Given the description of an element on the screen output the (x, y) to click on. 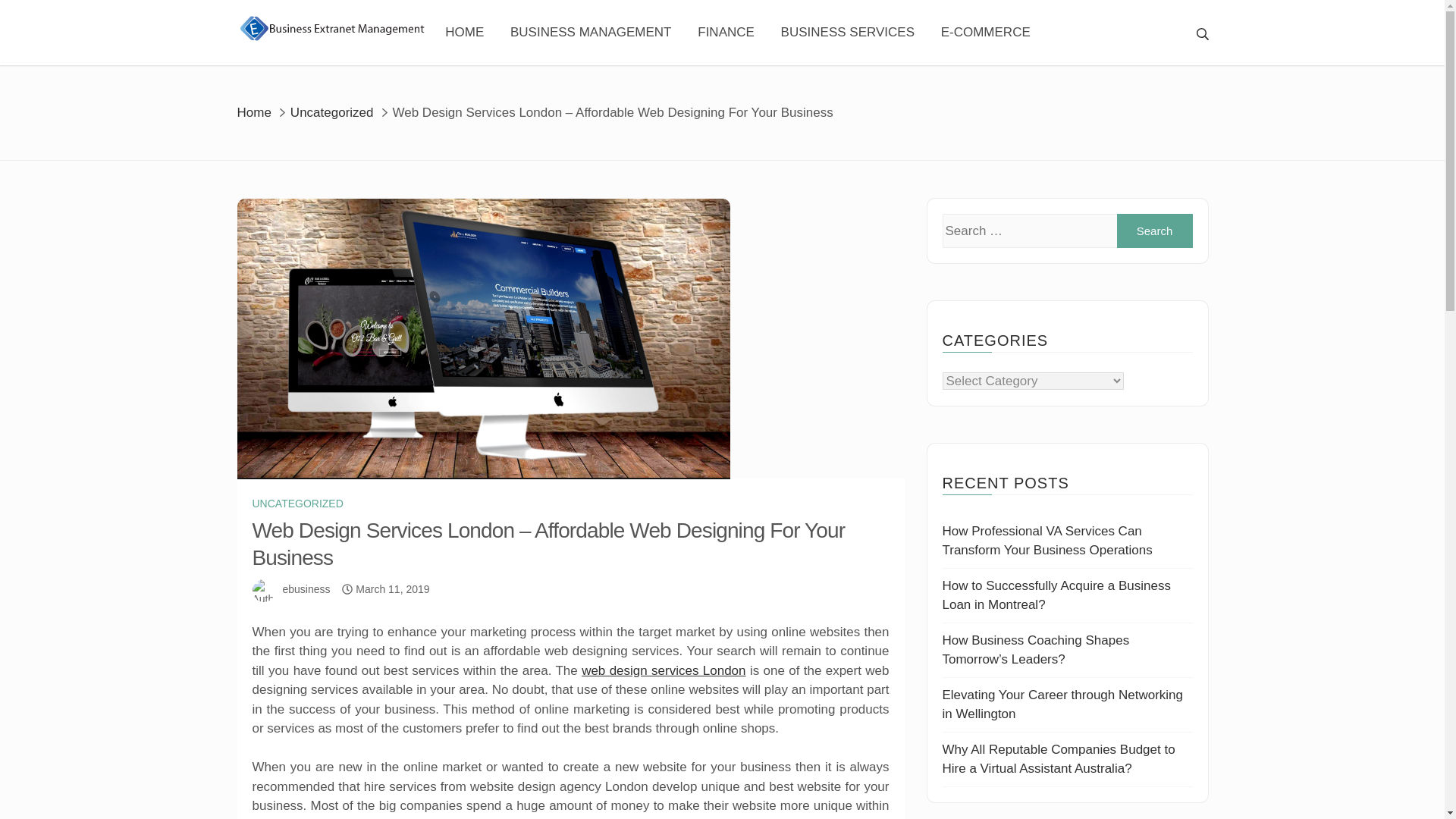
How to Successfully Acquire a Business Loan in Montreal? (1056, 595)
UNCATEGORIZED (296, 503)
Search (873, 22)
Search (1154, 230)
E-COMMERCE (985, 32)
Home (252, 111)
March 11, 2019 (392, 589)
Search (1154, 230)
Uncategorized (331, 111)
HOME (464, 32)
BUSINESS MANAGEMENT (591, 32)
BUSINESS SERVICES (847, 32)
ebusiness (306, 589)
